Given the description of an element on the screen output the (x, y) to click on. 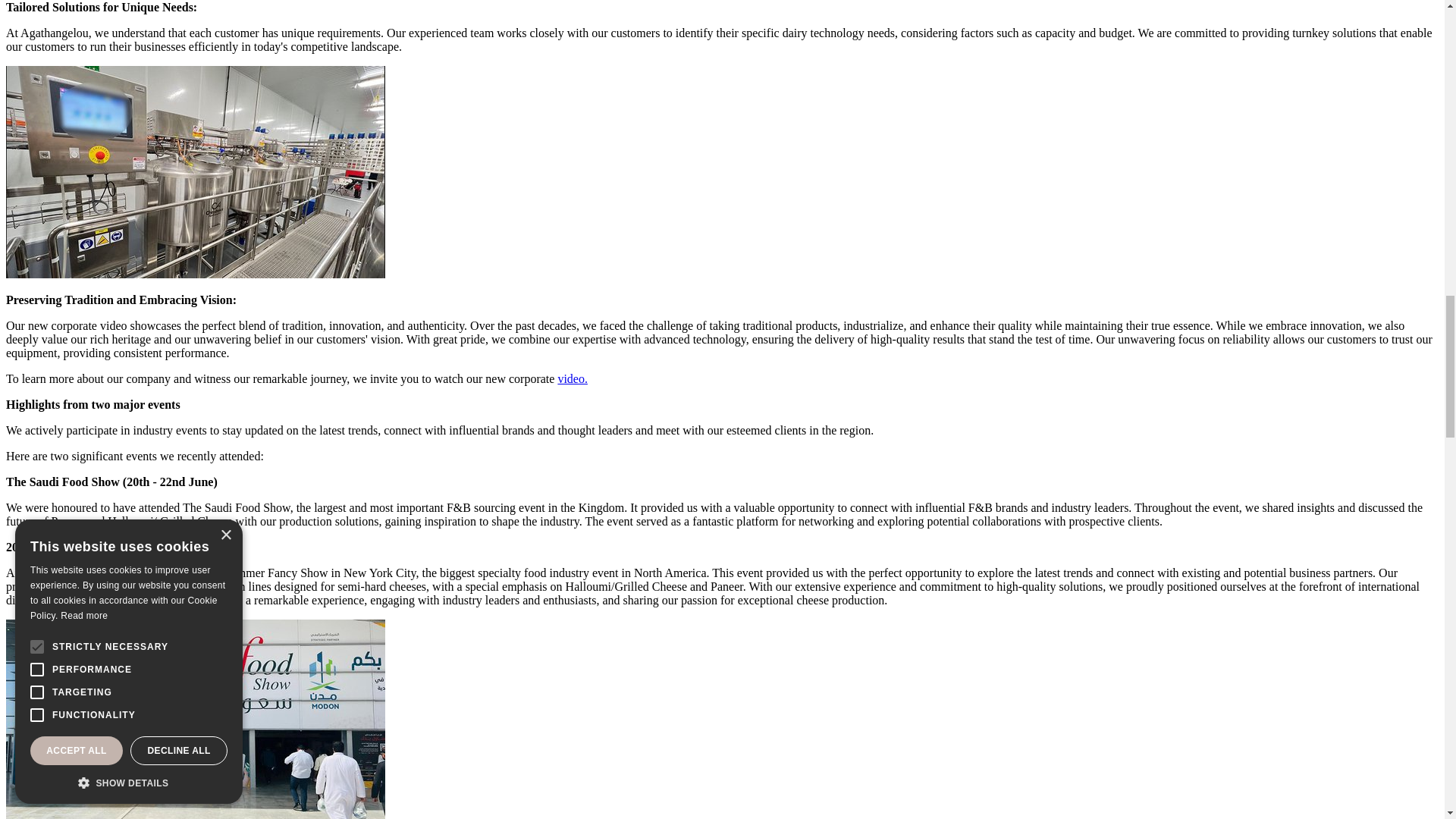
video. (572, 378)
